Given the description of an element on the screen output the (x, y) to click on. 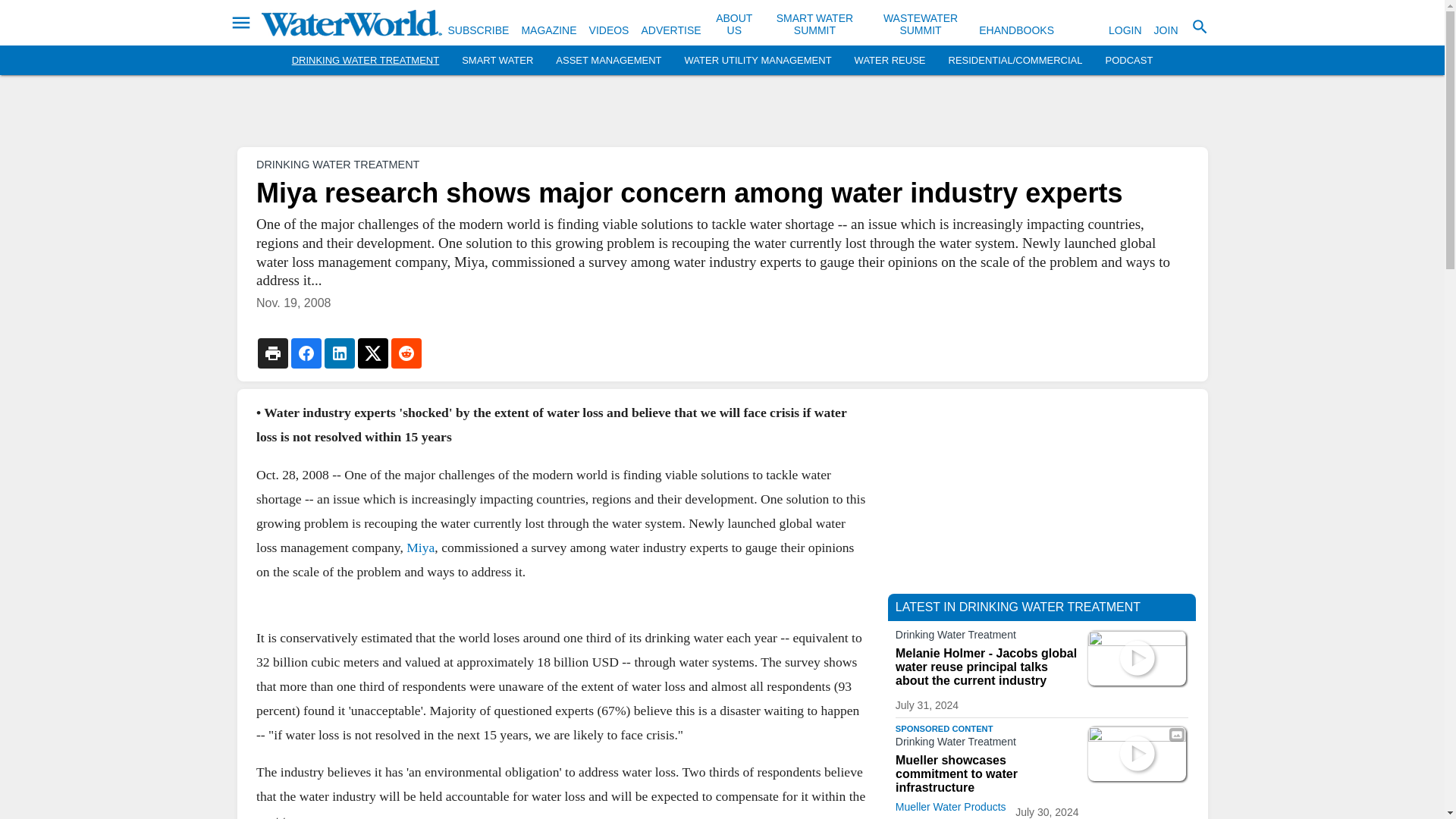
ADVERTISE (670, 30)
EHANDBOOKS (1016, 30)
SUBSCRIBE (477, 30)
SMART WATER (496, 60)
SMART WATER SUMMIT (814, 24)
DRINKING WATER TREATMENT (365, 60)
MAGAZINE (548, 30)
ABOUT US (734, 24)
VIDEOS (608, 30)
WASTEWATER SUMMIT (920, 24)
PODCAST (1129, 60)
JOIN (1165, 30)
WATER UTILITY MANAGEMENT (757, 60)
LOGIN (1124, 30)
WATER REUSE (890, 60)
